Given the description of an element on the screen output the (x, y) to click on. 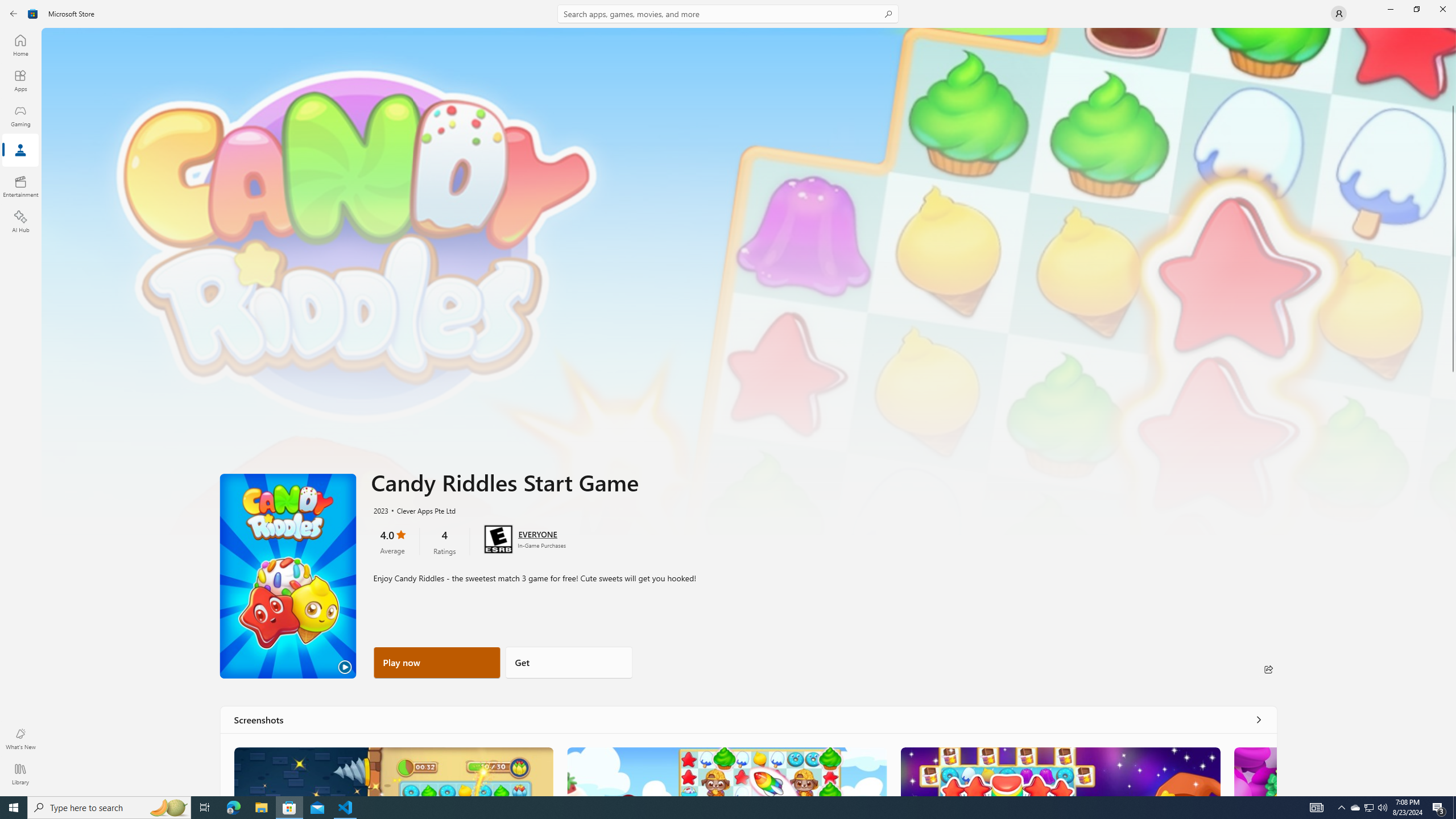
Candy Riddles (393, 771)
Screenshot 2 (726, 771)
Back (13, 13)
Share (1267, 669)
Screenshot 4 (1254, 771)
2023 (379, 510)
Search (727, 13)
Screenshot 3 (1059, 771)
